Given the description of an element on the screen output the (x, y) to click on. 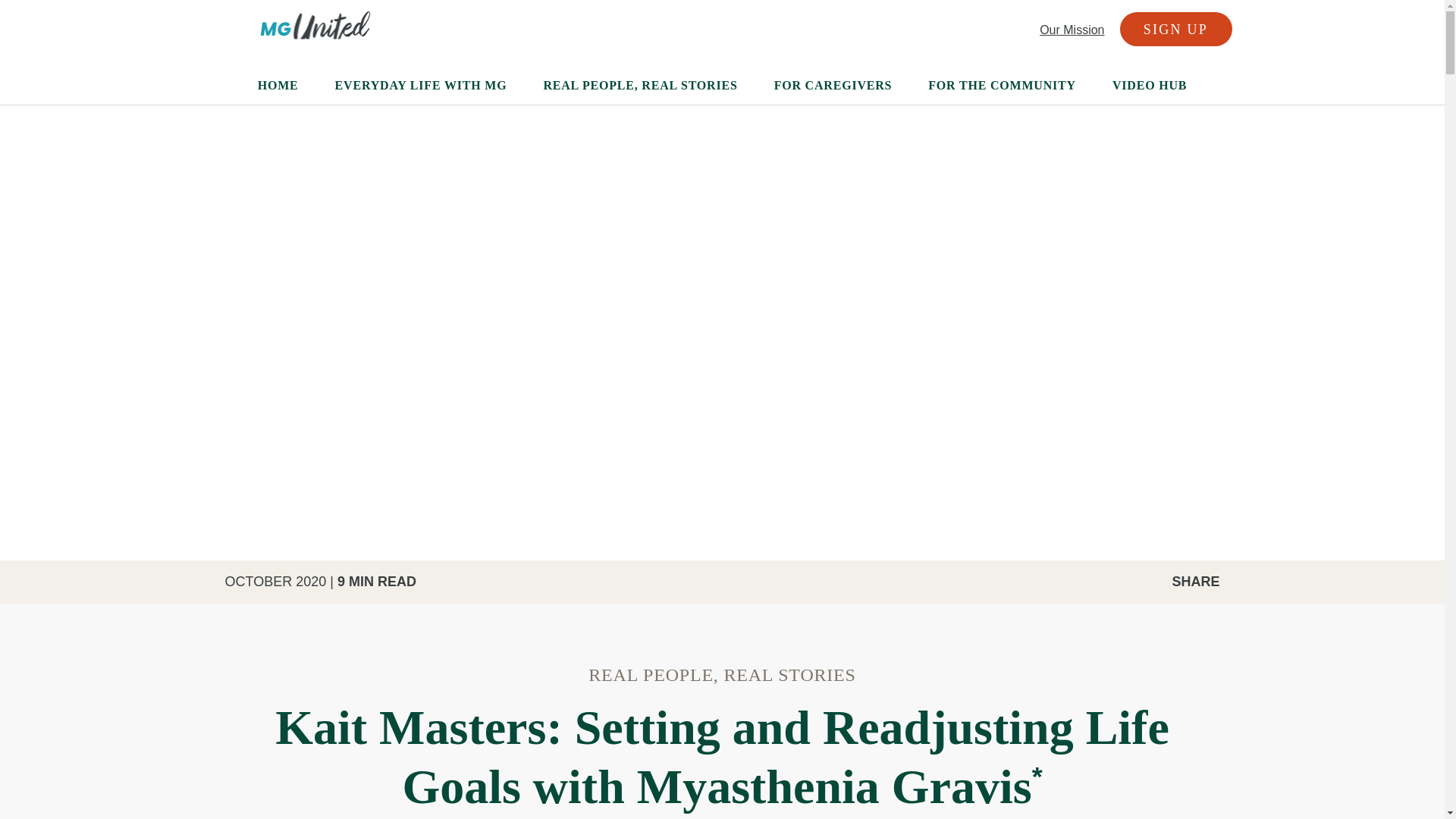
SIGN UP (1175, 28)
Our Mission (1071, 29)
HOME (277, 78)
SHARE (1180, 581)
VIDEO HUB (1149, 78)
